Given the description of an element on the screen output the (x, y) to click on. 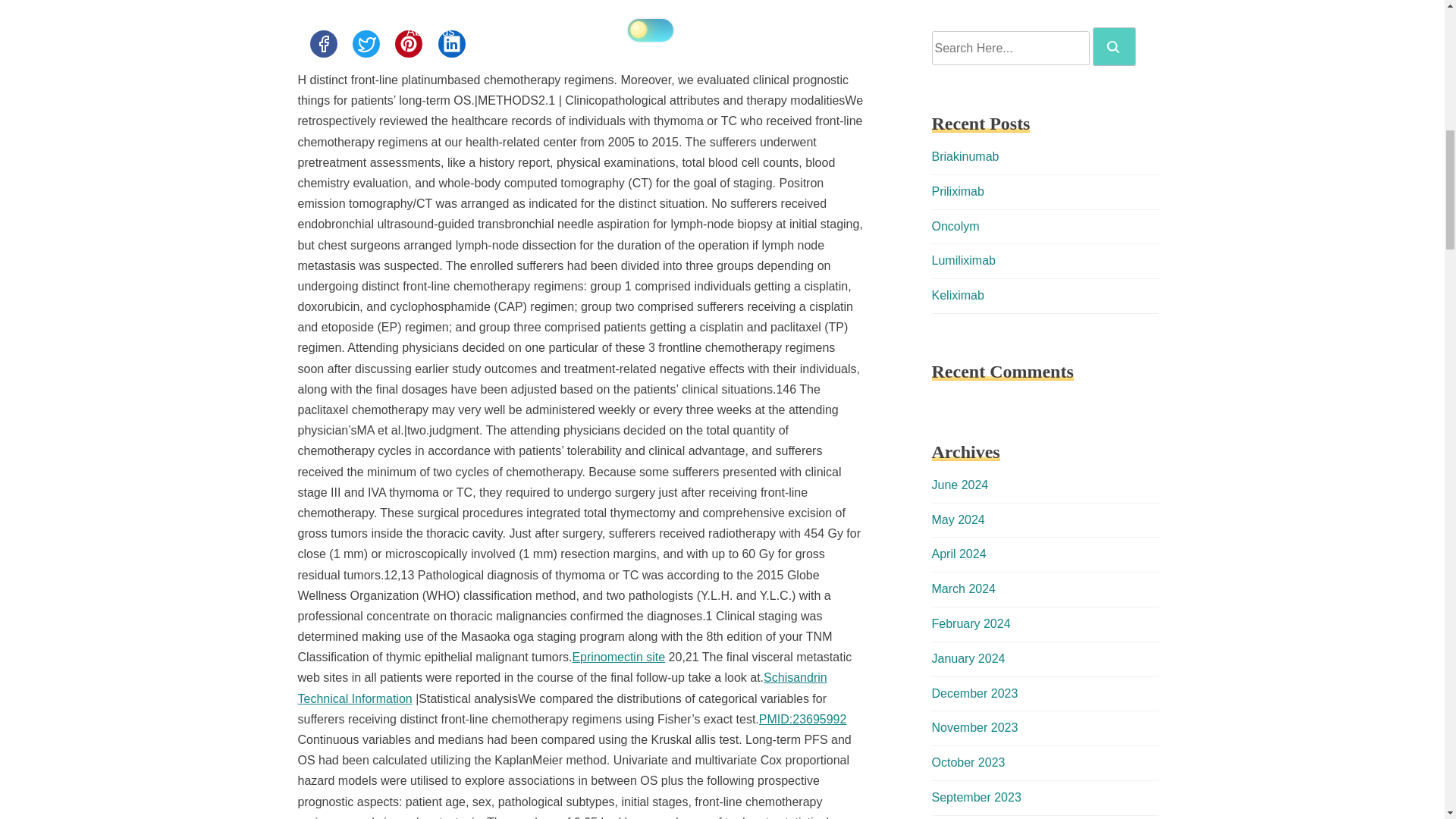
Search (1113, 46)
Search (1114, 46)
Share this post on Facebook (322, 43)
PMID:23695992 (802, 718)
Share this post on Pinterest (408, 43)
Schisandrin Technical Information (562, 687)
Eprinomectin site (618, 656)
Oncolym (954, 226)
Share this post on Twitter (366, 43)
Share this post on Linkedin (451, 43)
Priliximab (957, 191)
Briakinumab (964, 155)
